Given the description of an element on the screen output the (x, y) to click on. 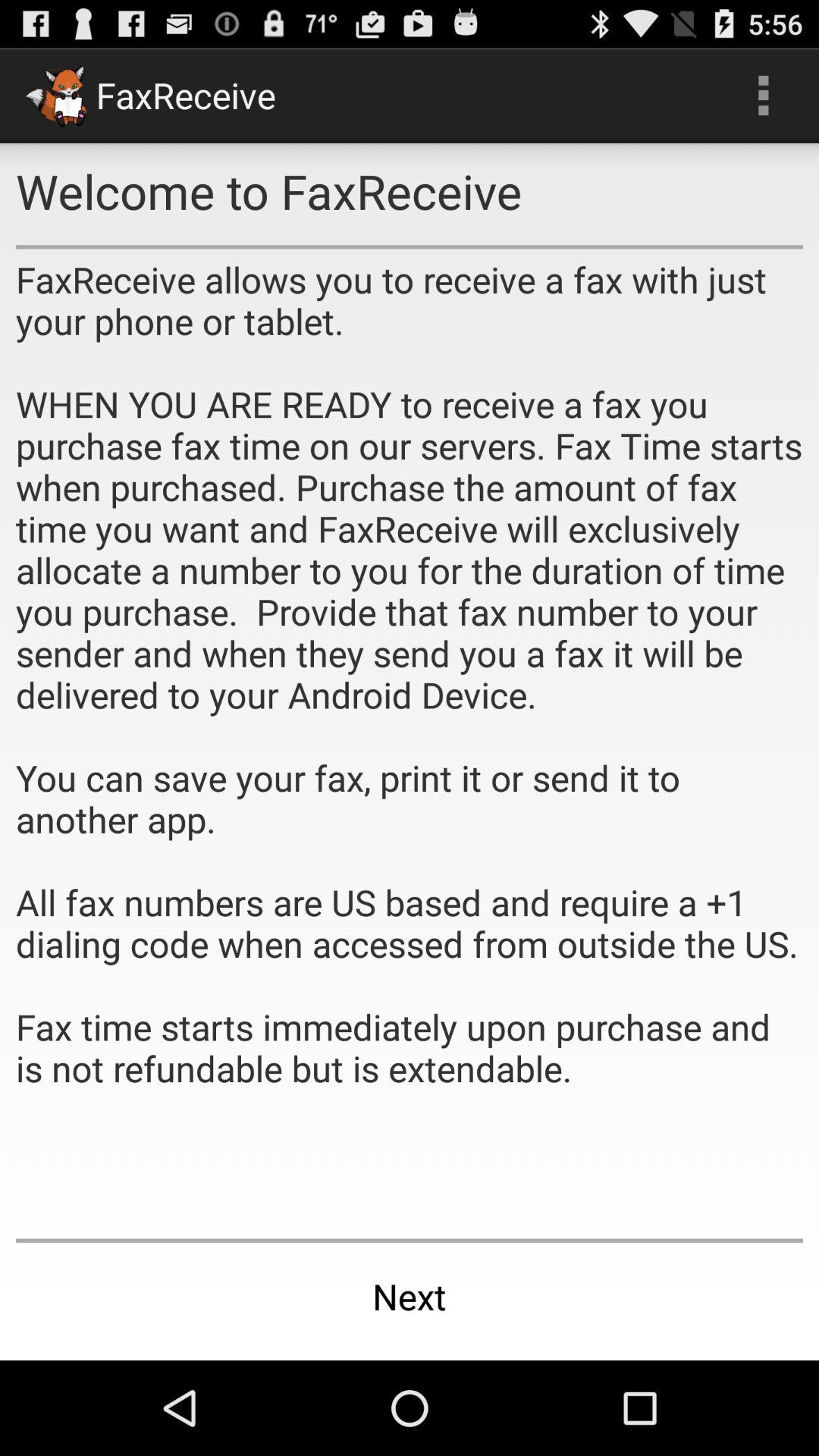
tap app to the right of faxreceive icon (763, 95)
